Given the description of an element on the screen output the (x, y) to click on. 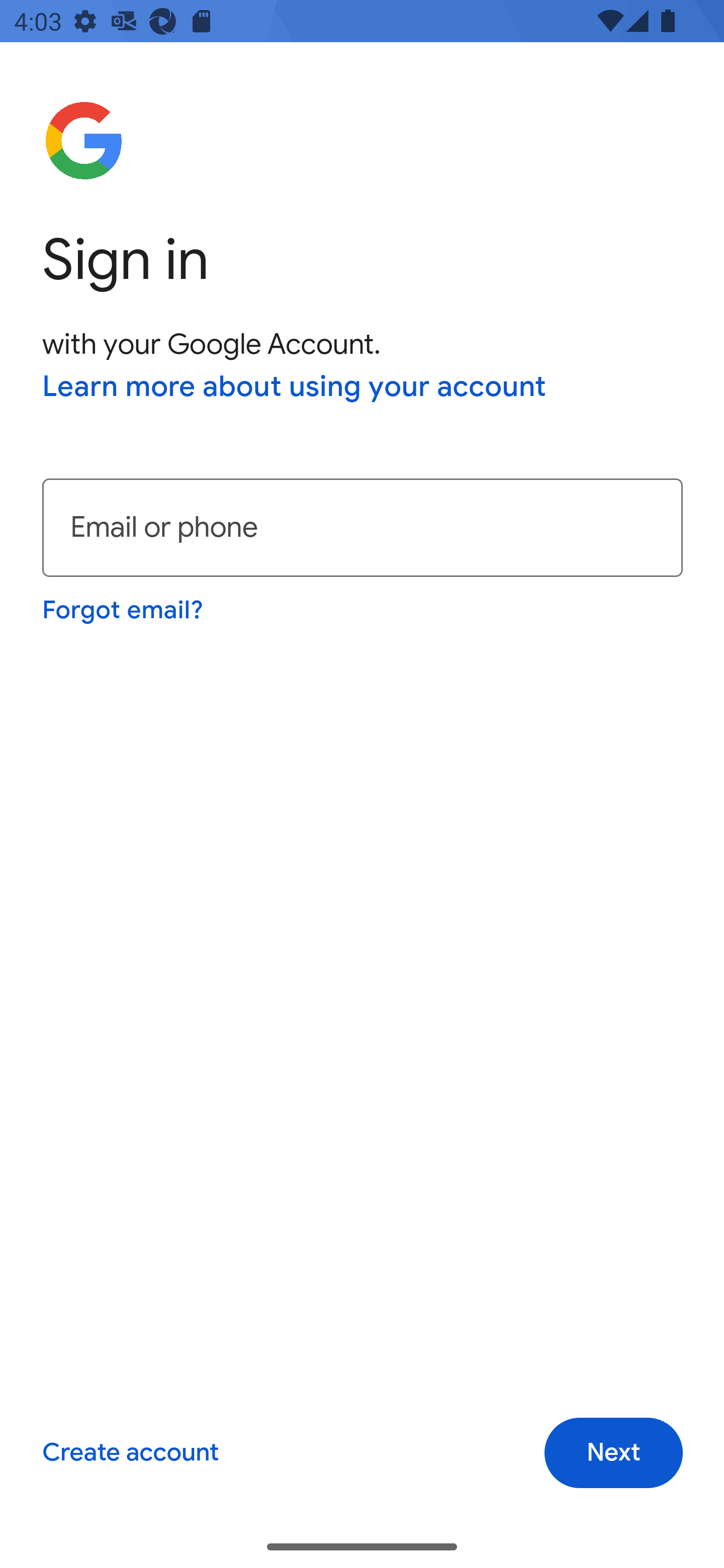
Learn more about using your account (294, 388)
Forgot email? (123, 609)
Next (613, 1453)
Create account (129, 1453)
